Given the description of an element on the screen output the (x, y) to click on. 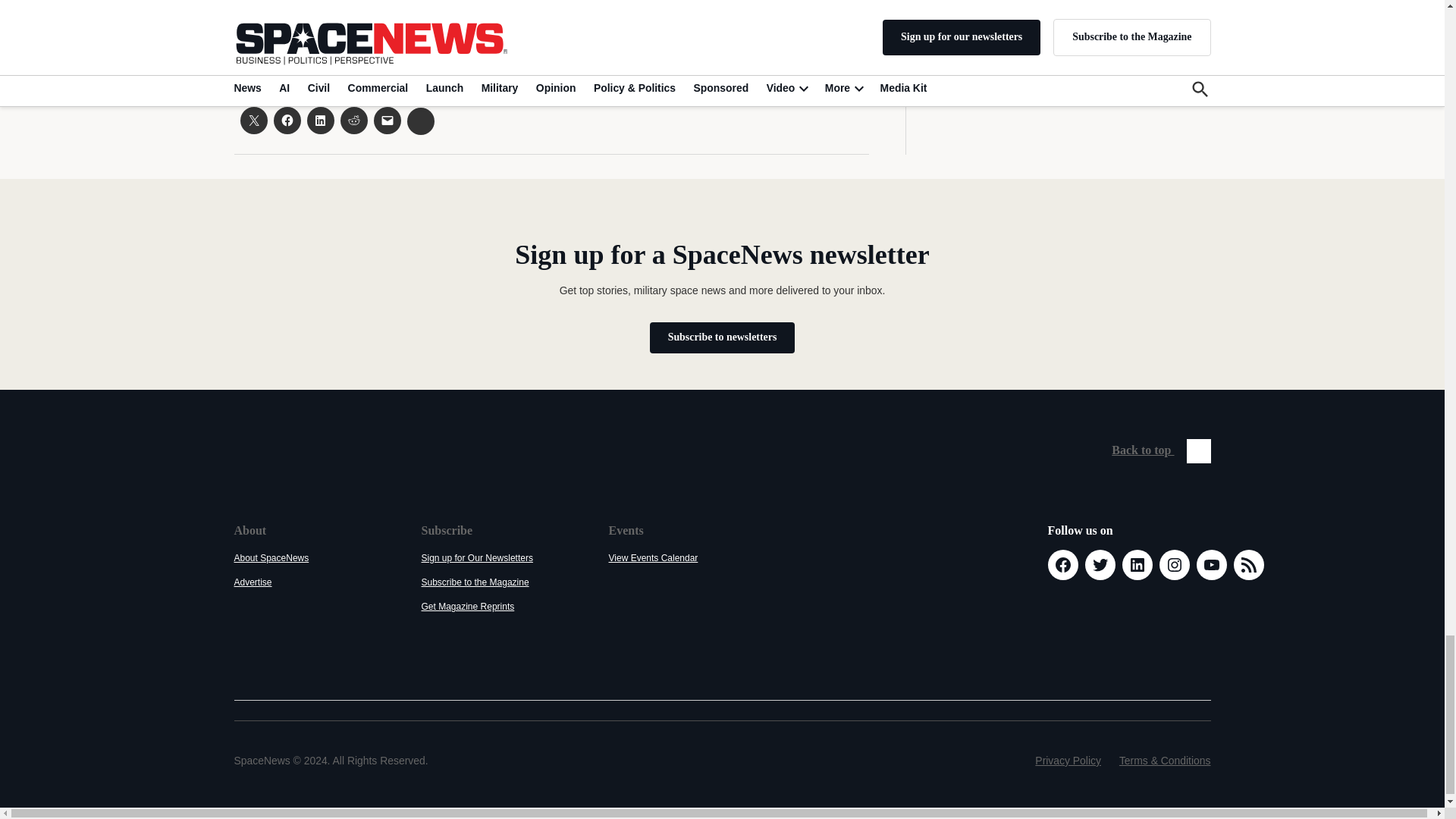
Click to share on Facebook (286, 120)
Click to share on Reddit (352, 120)
Click to email a link to a friend (386, 120)
Click to share on Clipboard (419, 121)
Click to share on LinkedIn (319, 120)
Click to share on X (253, 120)
